Given the description of an element on the screen output the (x, y) to click on. 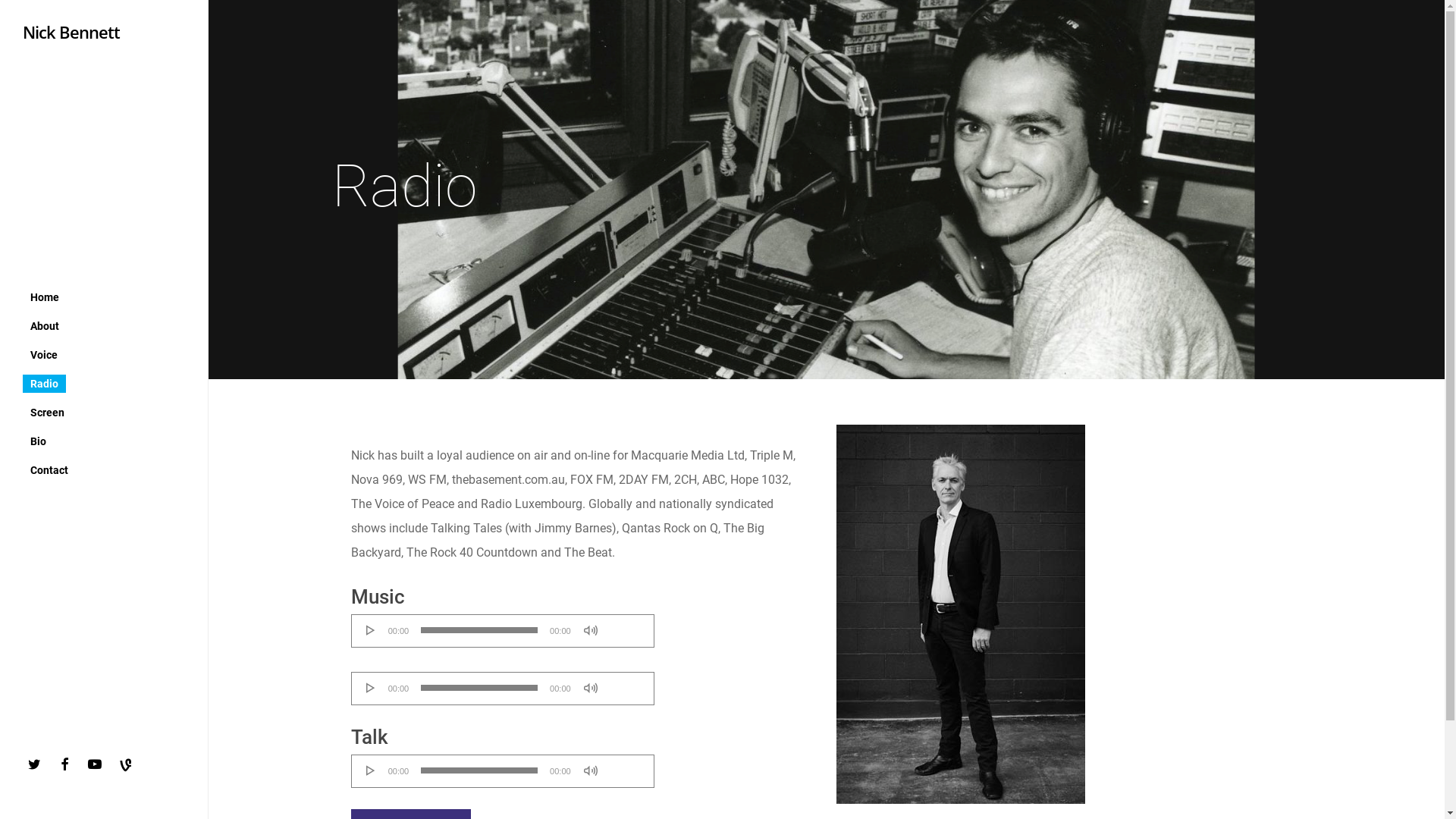
Use Up/Down Arrow keys to increase or decrease volume. Element type: text (624, 682)
Screen Element type: text (47, 411)
Play Element type: hover (370, 687)
About Element type: text (44, 324)
youtube Element type: text (98, 764)
Mute Element type: hover (590, 770)
Play Element type: hover (370, 629)
twitter Element type: text (37, 764)
Play Element type: hover (370, 770)
Mute Element type: hover (590, 629)
Nick Bennett Element type: text (70, 31)
Use Up/Down Arrow keys to increase or decrease volume. Element type: text (624, 624)
facebook Element type: text (68, 764)
Radio Element type: text (43, 382)
vine Element type: text (128, 766)
Voice Element type: text (43, 353)
Mute Element type: hover (590, 687)
Bio Element type: text (37, 440)
Contact Element type: text (48, 469)
Use Up/Down Arrow keys to increase or decrease volume. Element type: text (624, 765)
Home Element type: text (44, 296)
